Given the description of an element on the screen output the (x, y) to click on. 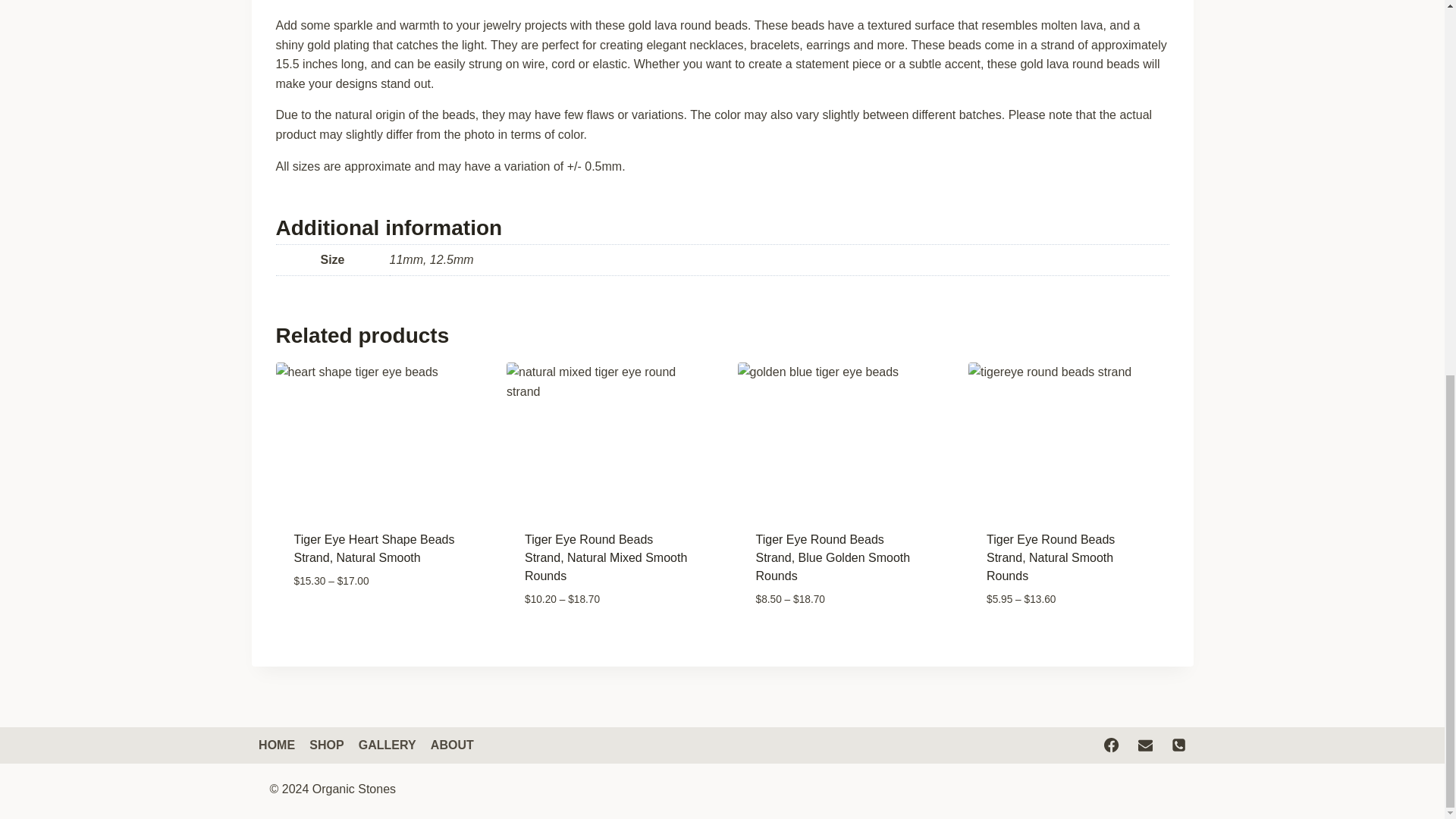
Tiger Eye Heart Shape Beads Strand, Natural Smooth (374, 548)
ABOUT (451, 745)
HOME (276, 745)
Tiger Eye Round Beads Strand, Natural Smooth Rounds (1051, 557)
SHOP (327, 745)
Tiger Eye Round Beads Strand, Natural Mixed Smooth Rounds (605, 557)
GALLERY (386, 745)
Tiger Eye Round Beads Strand, Blue Golden Smooth Rounds (832, 557)
